Given the description of an element on the screen output the (x, y) to click on. 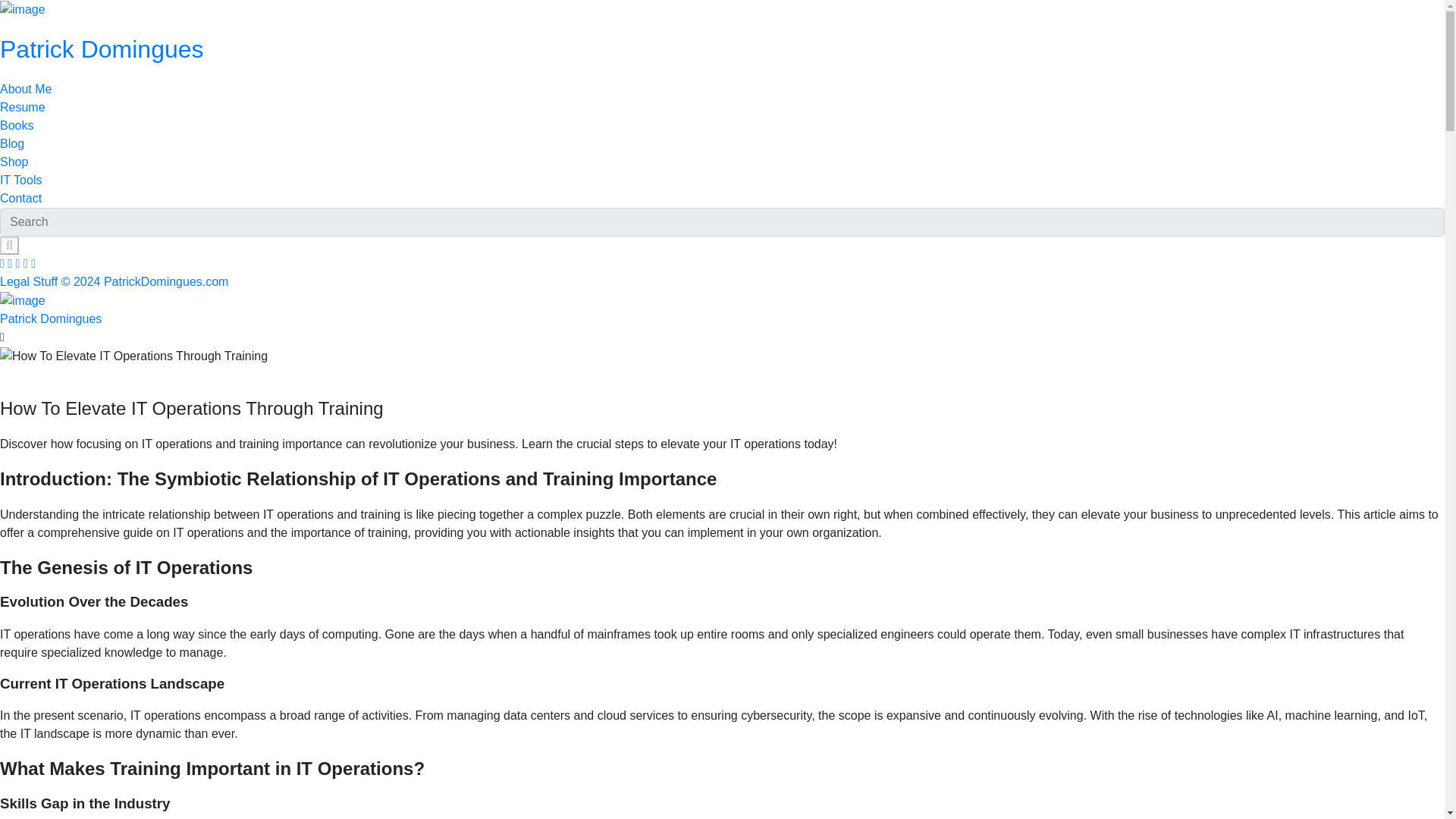
Resume (22, 106)
Contact (21, 197)
About Me (25, 88)
IT Tools (21, 179)
Books (16, 124)
Blog (12, 143)
Search (9, 245)
Patrick Domingues (50, 318)
Shop (13, 161)
